Given the description of an element on the screen output the (x, y) to click on. 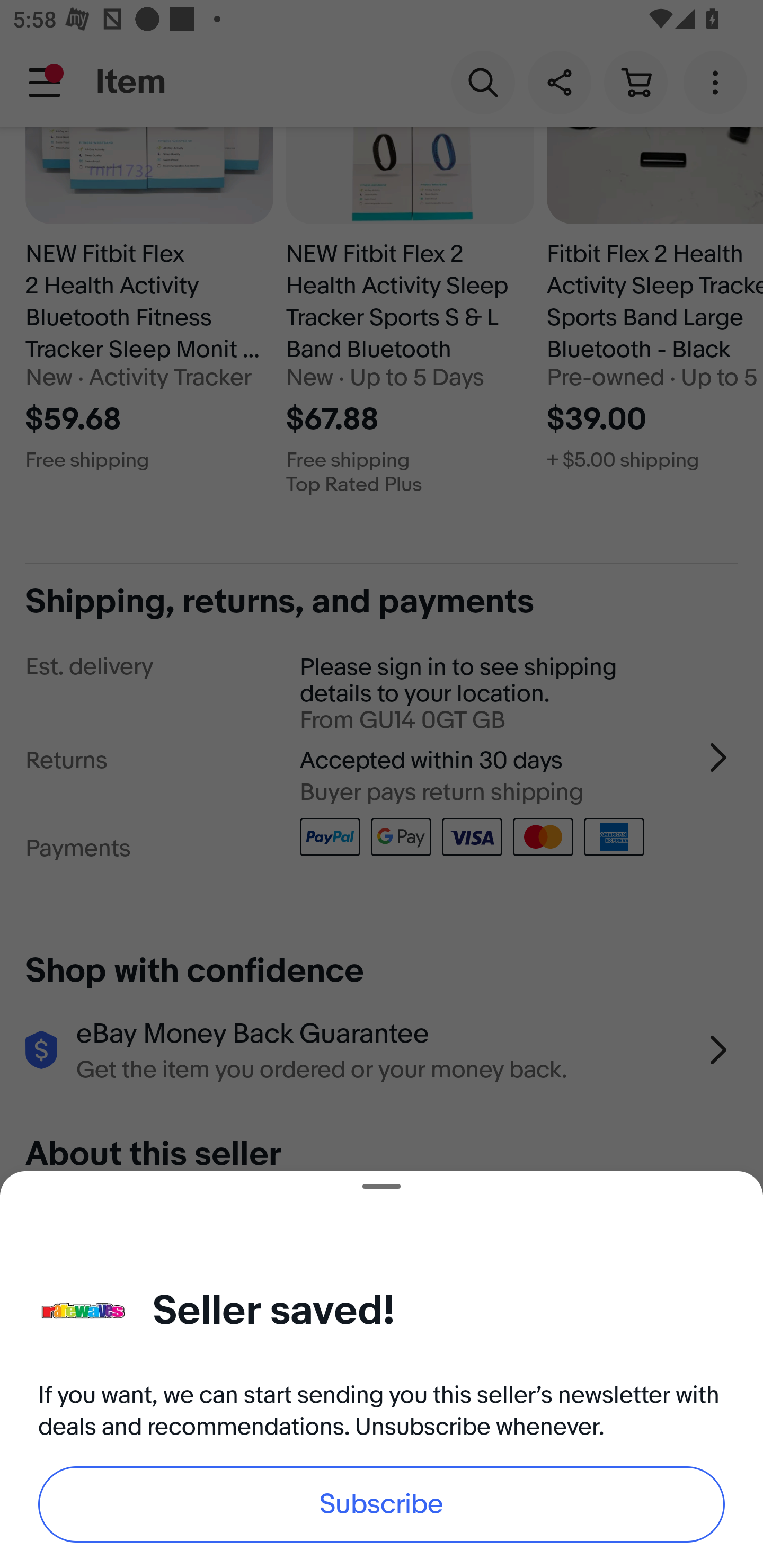
Subscribe (381, 1504)
